Given the description of an element on the screen output the (x, y) to click on. 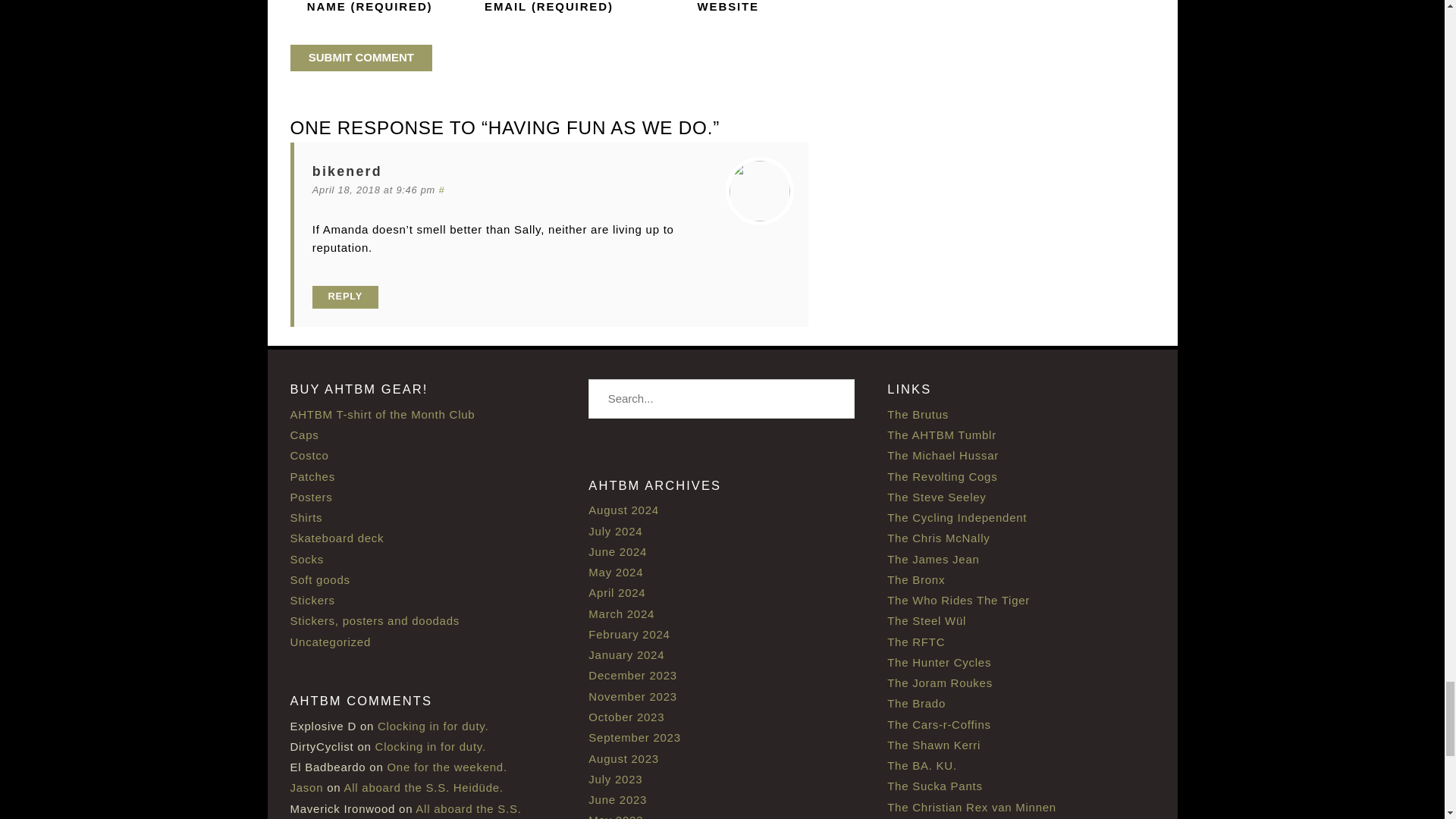
Submit Comment (360, 58)
Search (836, 398)
Search (836, 398)
